Given the description of an element on the screen output the (x, y) to click on. 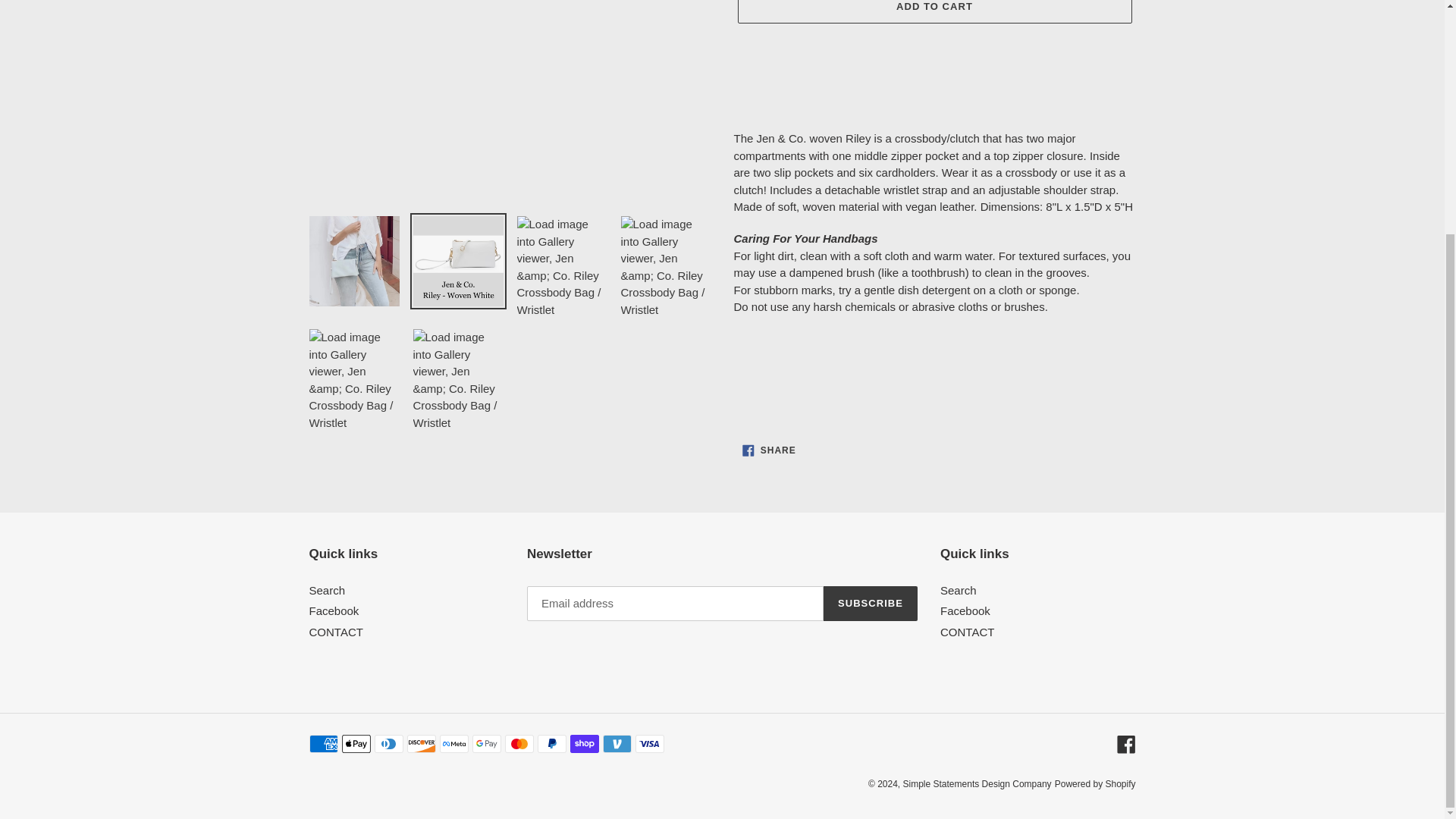
Facebook (1125, 743)
Facebook (333, 610)
SUBSCRIBE (870, 603)
Search (769, 450)
Powered by Shopify (958, 590)
ADD TO CART (1094, 783)
Simple Statements Design Company (933, 11)
CONTACT (976, 783)
Facebook (967, 631)
